Given the description of an element on the screen output the (x, y) to click on. 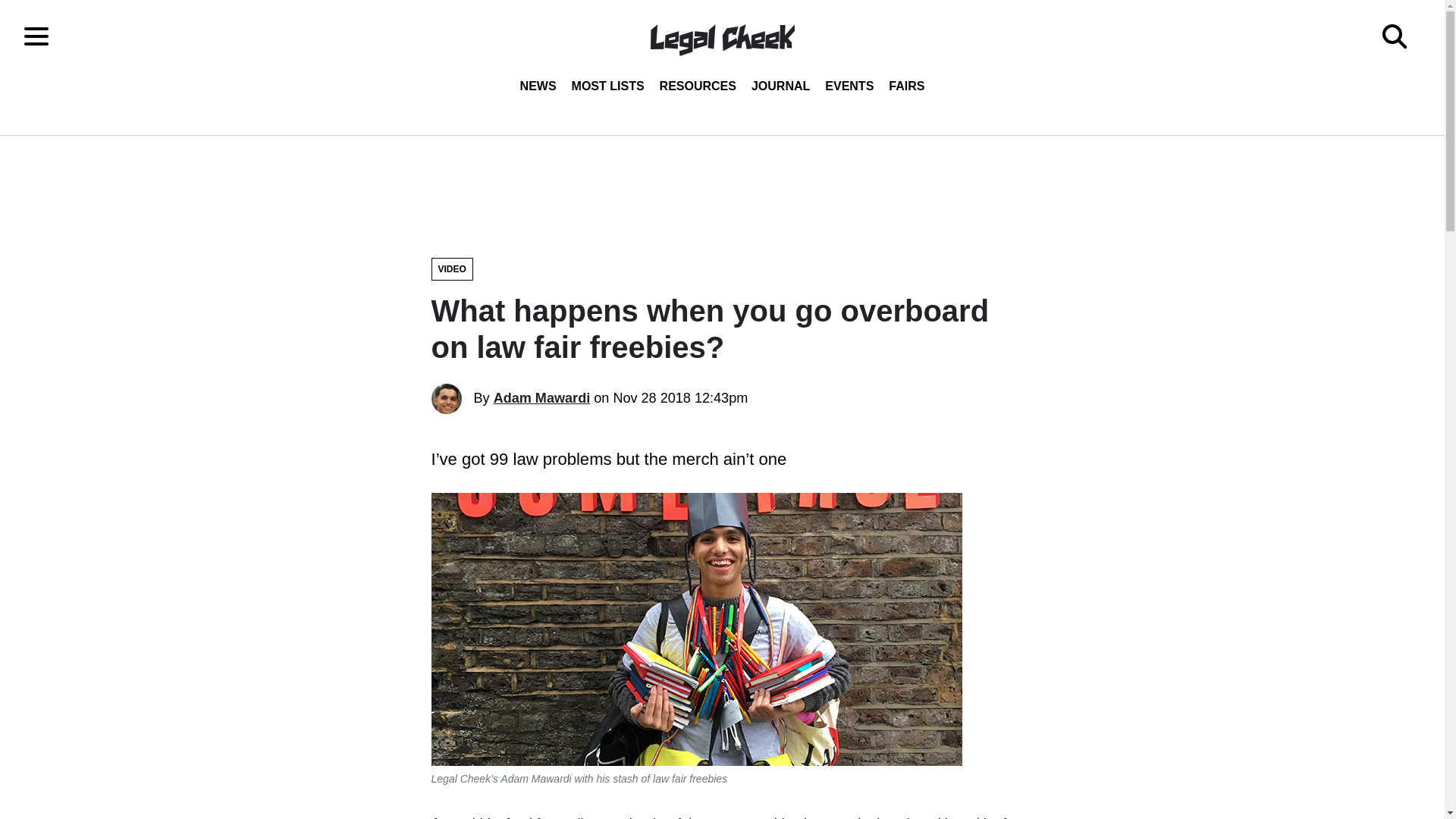
VIDEO (450, 268)
NEWS (538, 86)
MOST LISTS (608, 86)
Adam Mawardi (542, 397)
RESOURCES (698, 86)
EVENTS (848, 86)
advertisement (721, 187)
FAIRS (905, 86)
JOURNAL (780, 86)
